Given the description of an element on the screen output the (x, y) to click on. 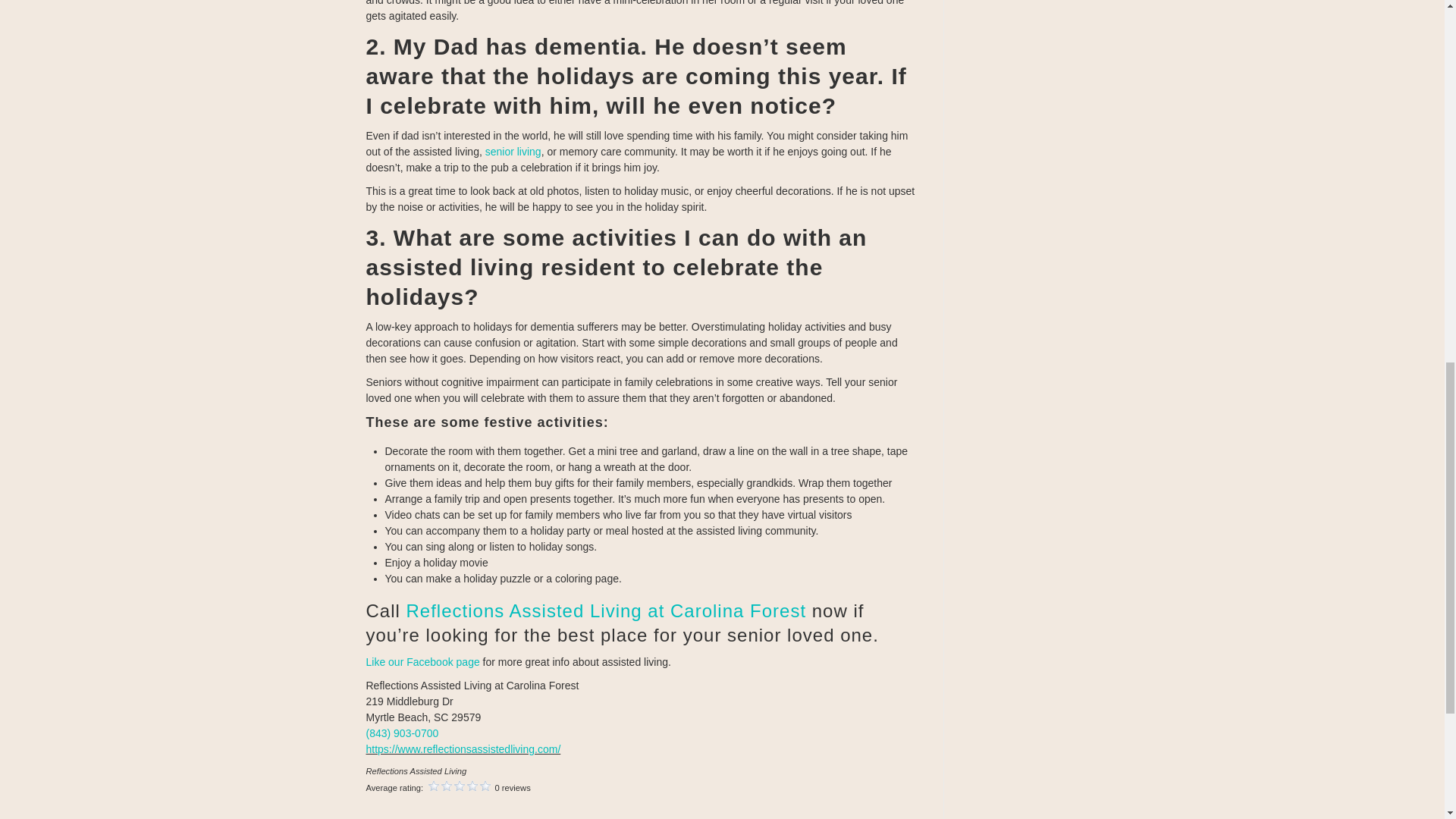
Like our Facebook page (422, 662)
Reflections Assisted Living at Carolina Forest (606, 610)
senior living (512, 151)
